Given the description of an element on the screen output the (x, y) to click on. 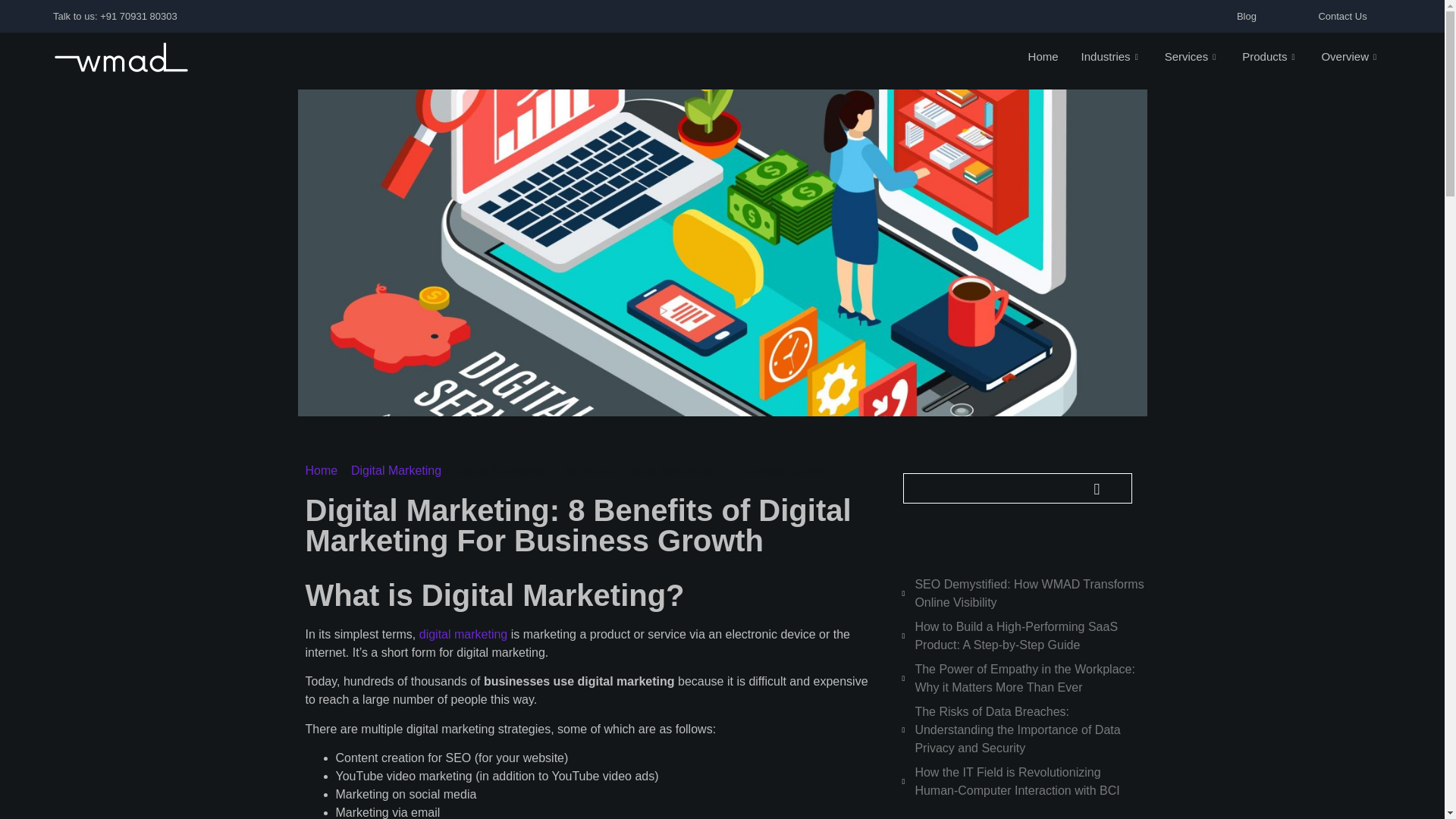
Blog (1246, 16)
Products (1269, 57)
Overview (1349, 57)
Home (1043, 57)
Services (1192, 57)
Industries (1111, 57)
Contact Us (1342, 16)
